Given the description of an element on the screen output the (x, y) to click on. 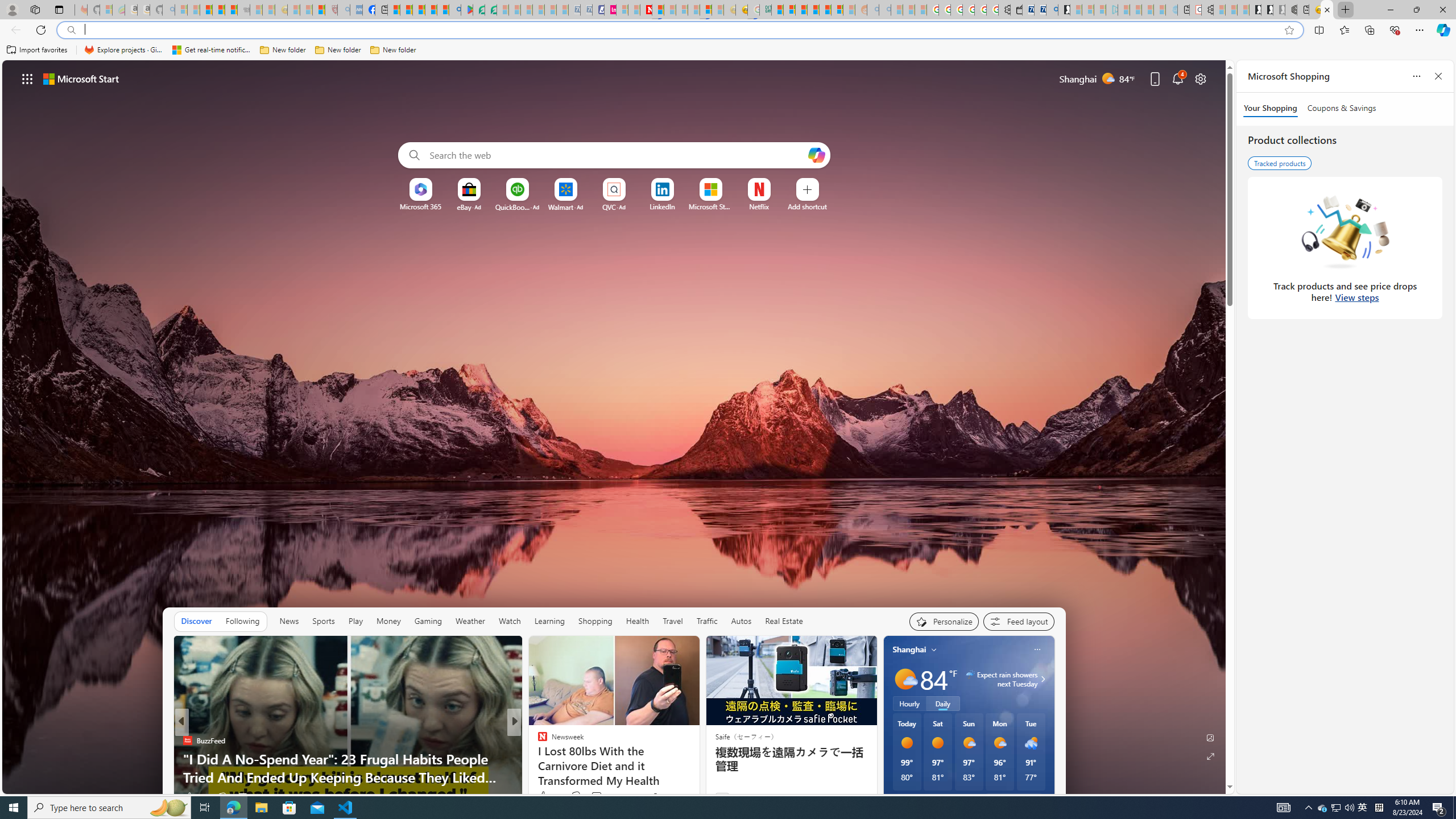
AutomationID: backgroundImagePicture (613, 426)
Food Republic (537, 758)
Tastes Delicious (537, 740)
Netflix (758, 206)
